Given the description of an element on the screen output the (x, y) to click on. 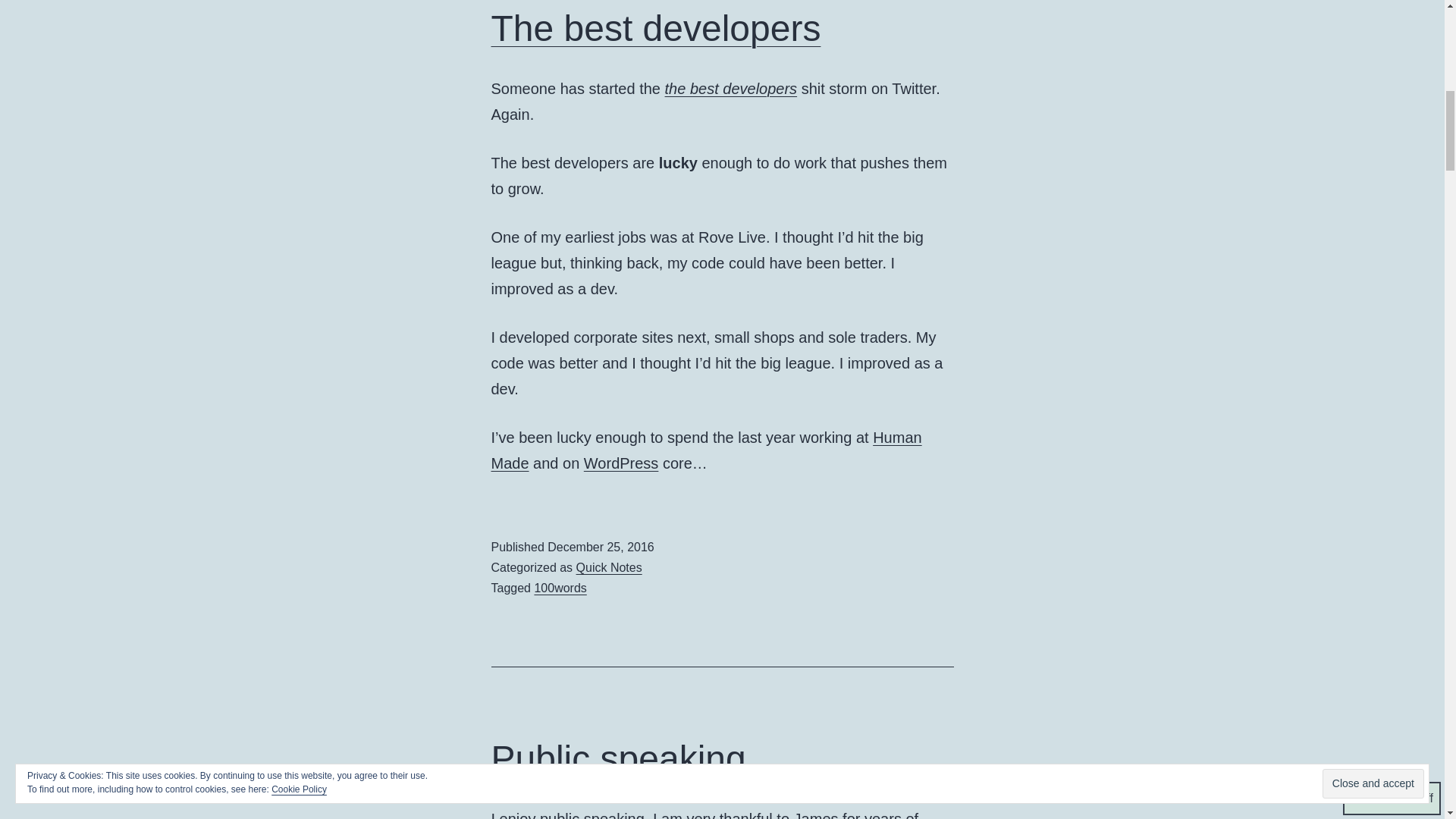
the best developers (731, 88)
Quick Notes (609, 567)
WordPress (621, 463)
Public speaking (618, 758)
Human Made (706, 450)
The best developers (656, 28)
100words (560, 587)
James (815, 814)
